Given the description of an element on the screen output the (x, y) to click on. 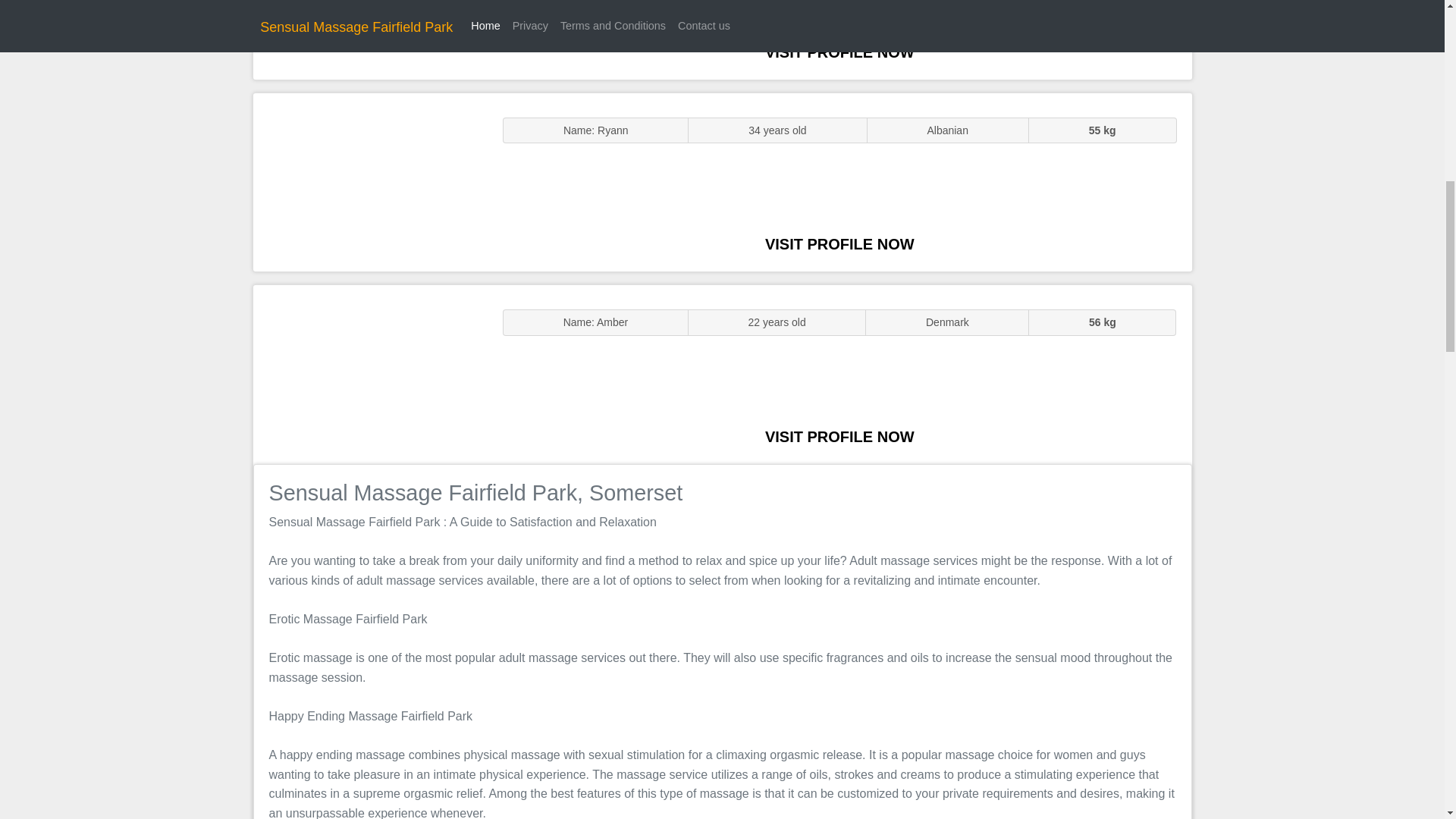
VISIT PROFILE NOW (839, 243)
VISIT PROFILE NOW (839, 52)
Massage (370, 374)
VISIT PROFILE NOW (839, 436)
Sluts (370, 39)
Sluts (370, 182)
